Given the description of an element on the screen output the (x, y) to click on. 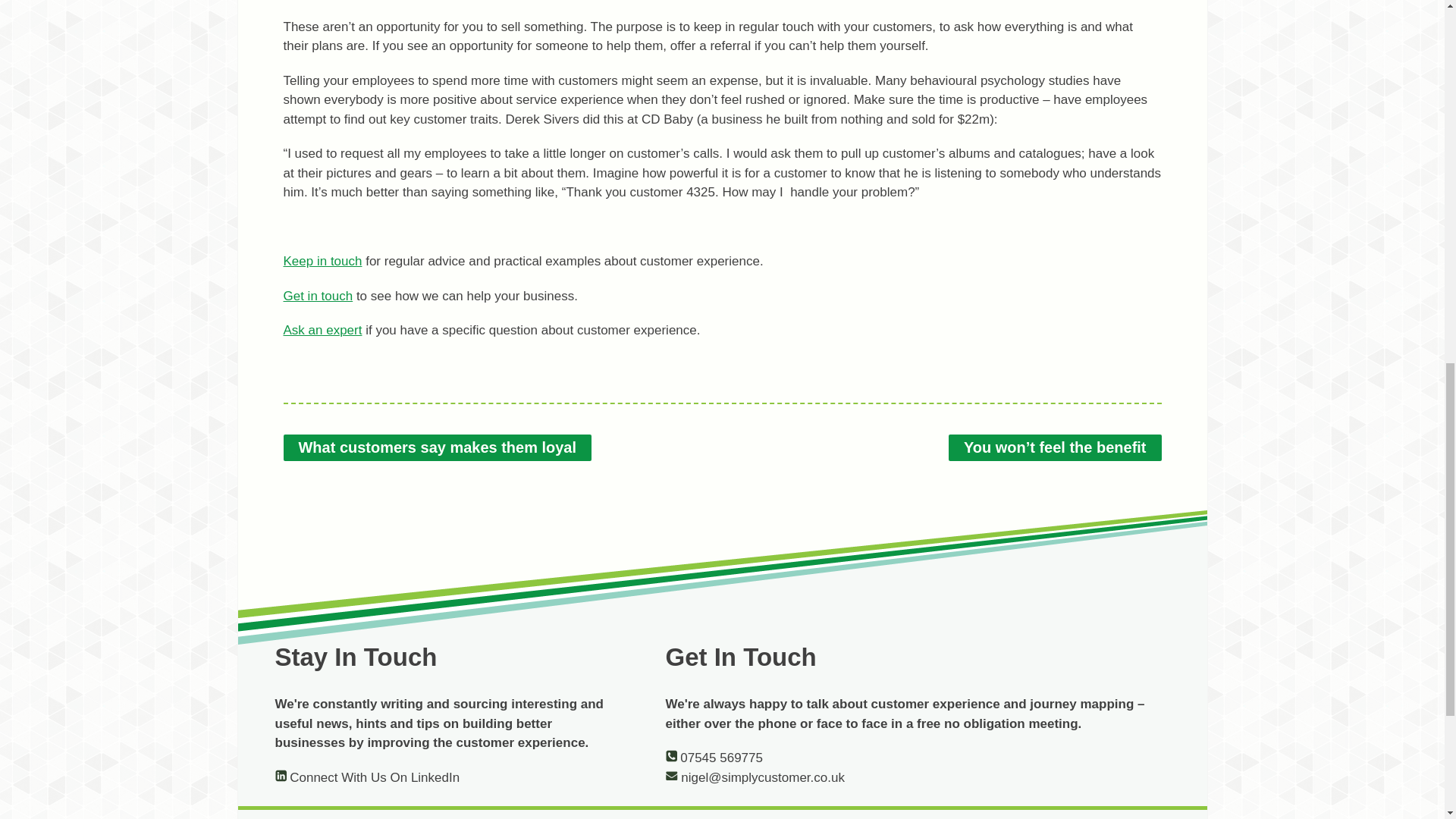
Get in touch (318, 296)
What customers say makes them loyal (437, 447)
Connect With Us On LinkedIn (367, 777)
Keep in touch (322, 260)
Ask an expert (322, 329)
